Given the description of an element on the screen output the (x, y) to click on. 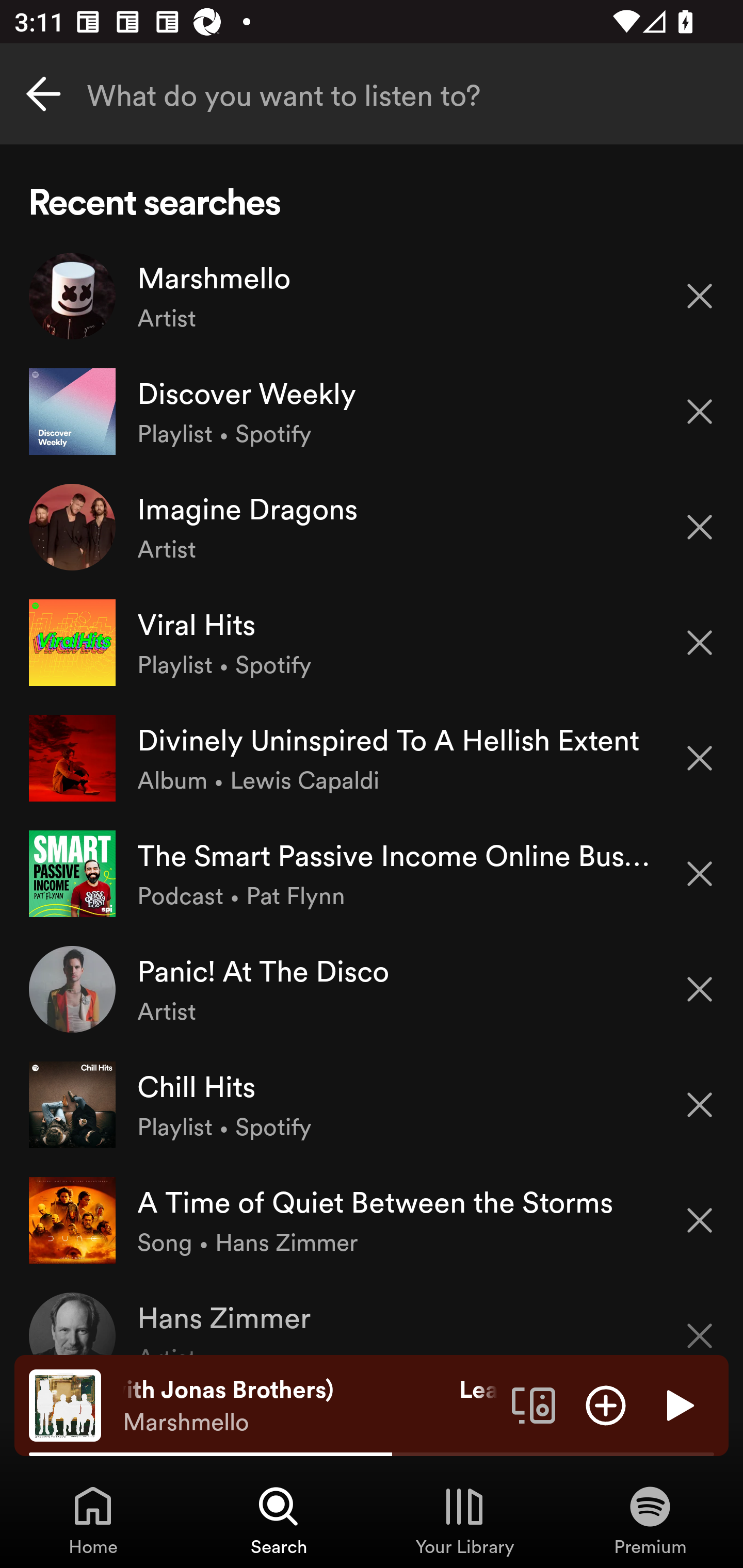
What do you want to listen to? (371, 93)
Cancel (43, 93)
Marshmello Artist Remove (371, 296)
Remove (699, 295)
Discover Weekly Playlist • Spotify Remove (371, 411)
Remove (699, 411)
Imagine Dragons Artist Remove (371, 526)
Remove (699, 527)
Viral Hits Playlist • Spotify Remove (371, 642)
Remove (699, 642)
Remove (699, 758)
Remove (699, 874)
Panic! At The Disco Artist Remove (371, 989)
Remove (699, 989)
Chill Hits Playlist • Spotify Remove (371, 1104)
Remove (699, 1104)
Remove (699, 1220)
